Given the description of an element on the screen output the (x, y) to click on. 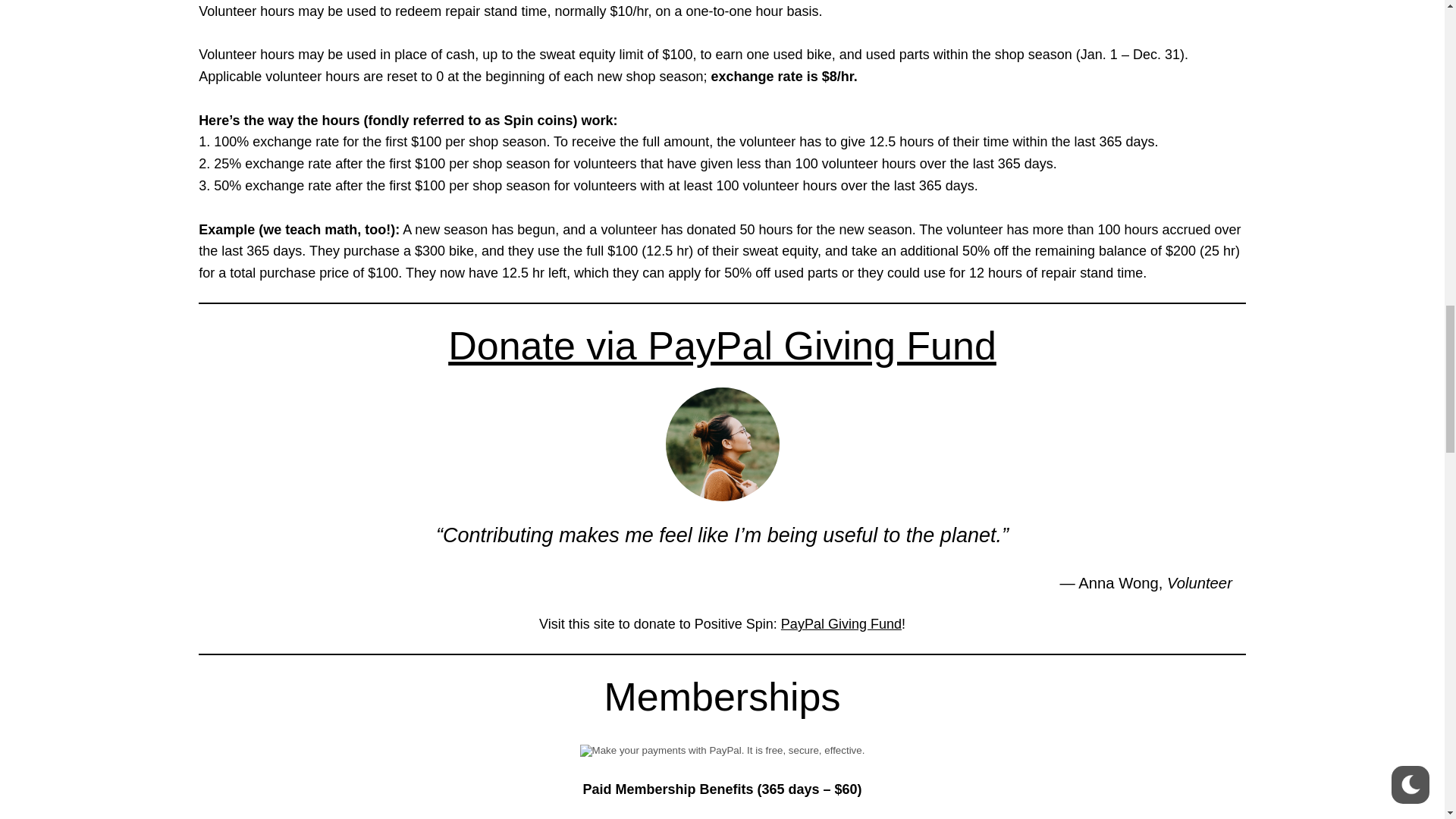
Donate via PayPal Giving Fund (721, 345)
PayPal Giving Fund (840, 623)
